Given the description of an element on the screen output the (x, y) to click on. 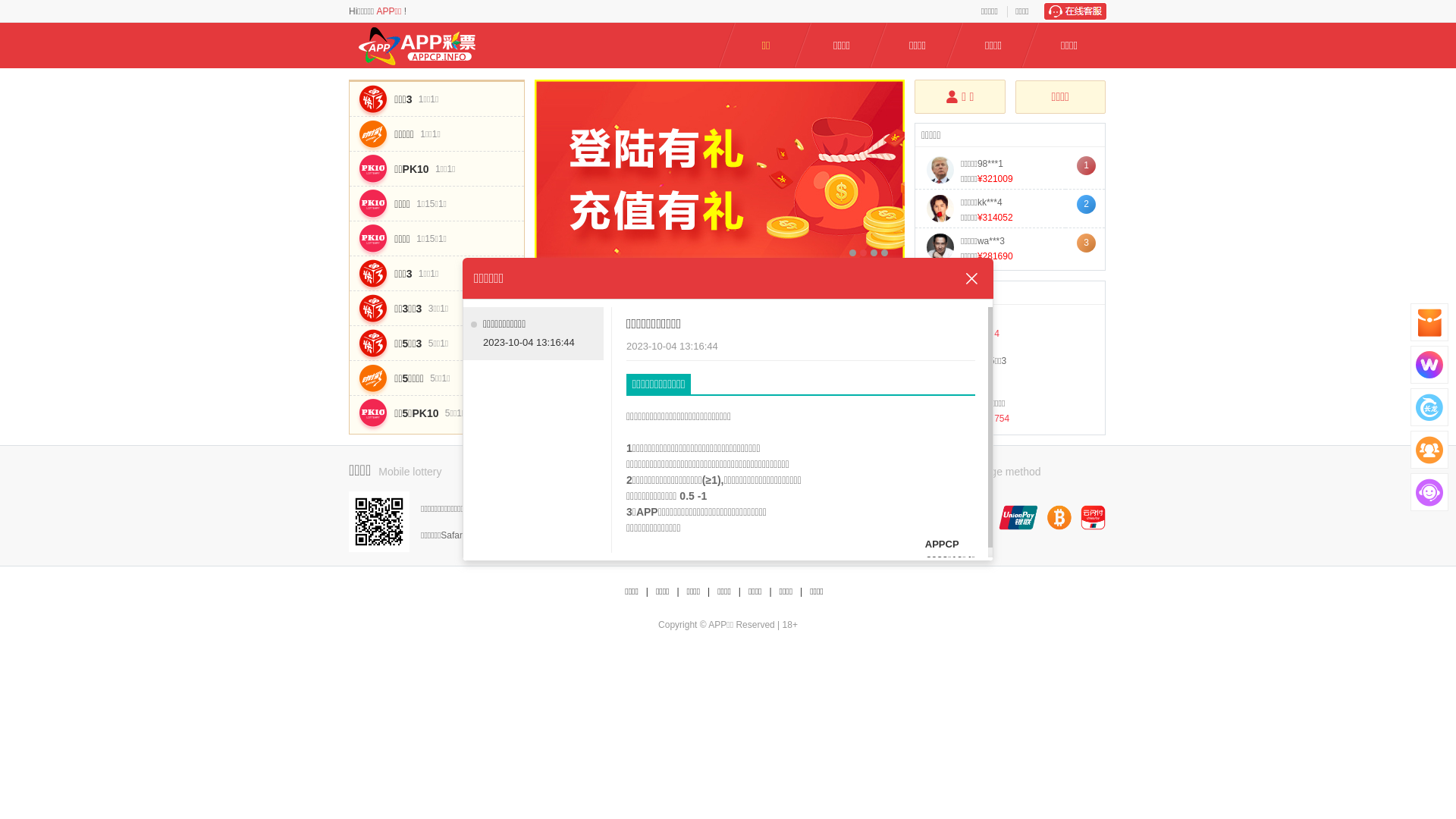
| Element type: text (801, 591)
| Element type: text (769, 591)
| Element type: text (677, 591)
| Element type: text (708, 591)
| Element type: text (739, 591)
| Element type: text (647, 591)
